Given the description of an element on the screen output the (x, y) to click on. 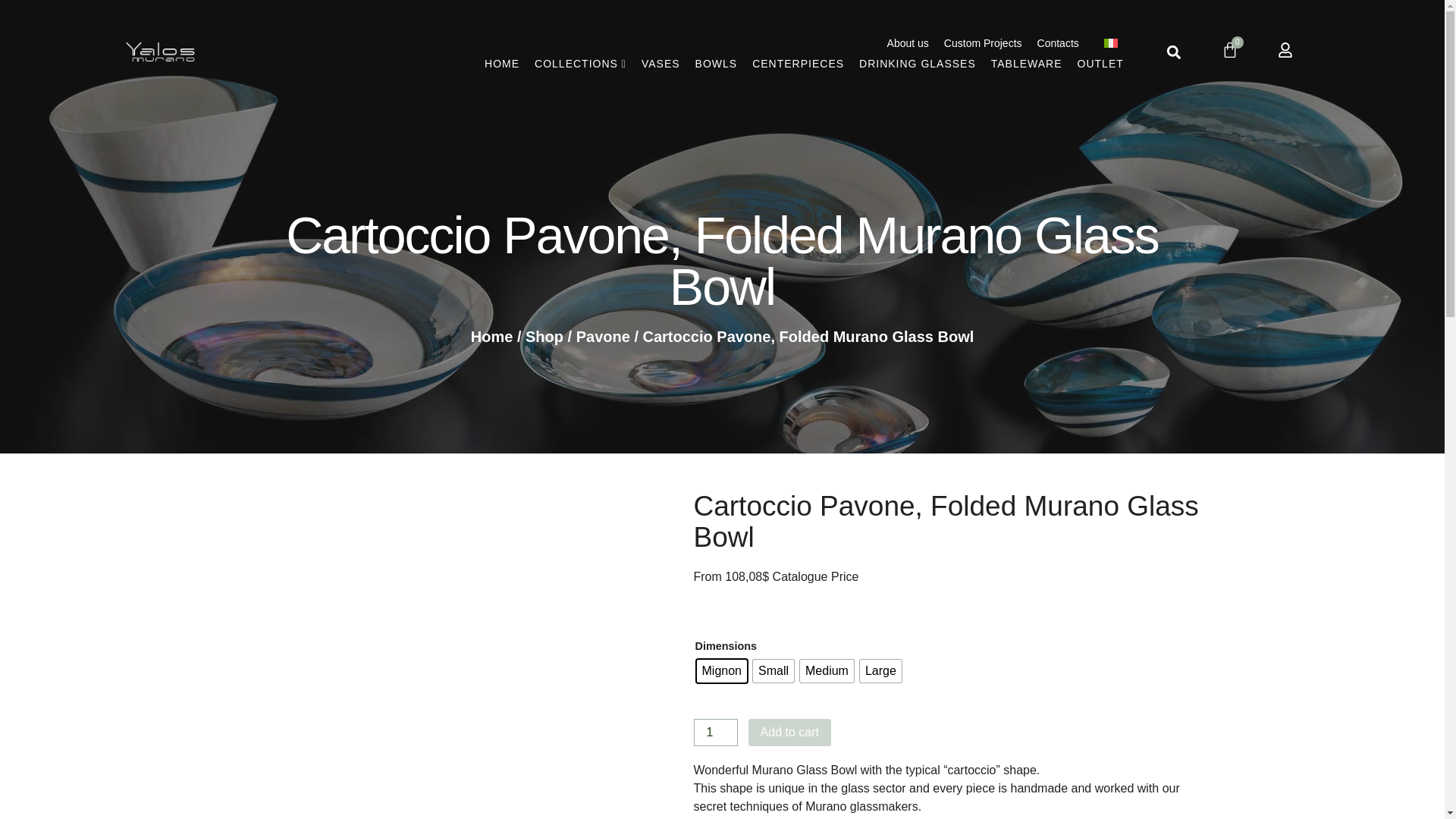
Medium (826, 671)
1 (714, 732)
Large (880, 671)
Small (772, 671)
Custom Projects (982, 42)
BOWLS (716, 63)
About us (907, 42)
COLLECTIONS (580, 63)
Mignon (720, 671)
HOME (501, 63)
